Given the description of an element on the screen output the (x, y) to click on. 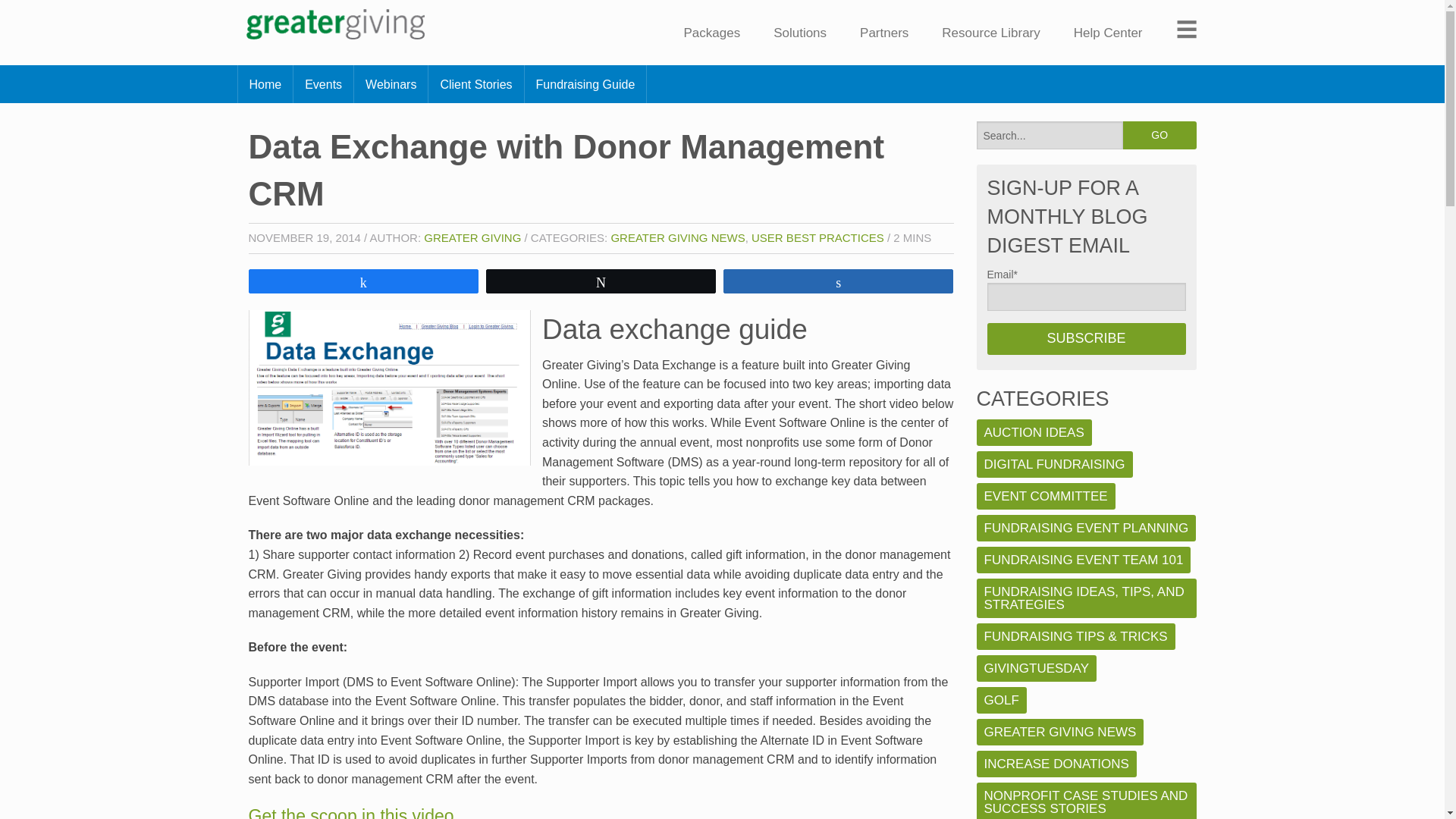
Greater Giving Data Exchange Video (351, 812)
Subscribe (1086, 338)
Go (1159, 135)
Packages (711, 32)
